Given the description of an element on the screen output the (x, y) to click on. 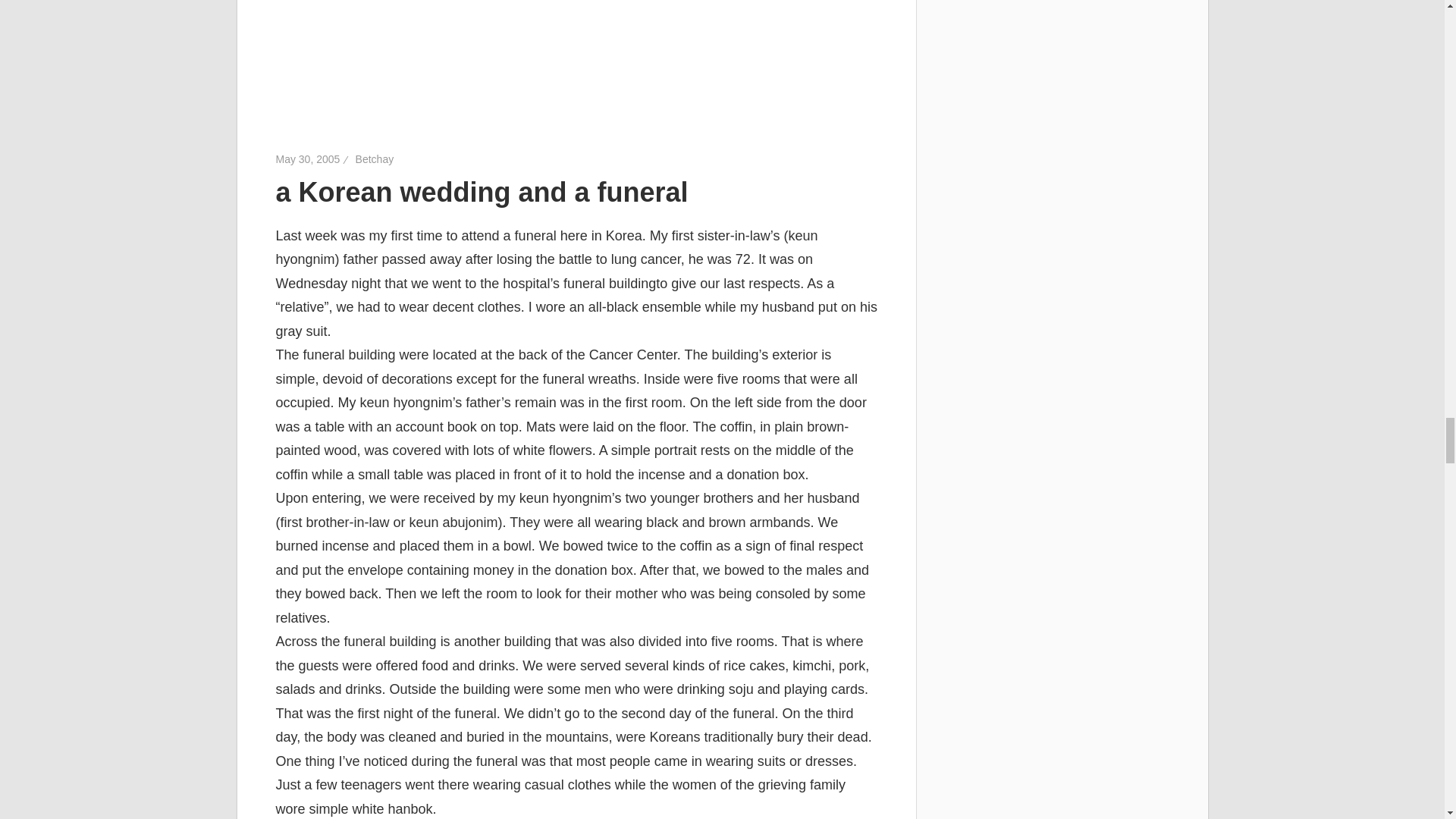
7:57 pm (308, 159)
View all posts by Betchay (374, 159)
Comment Form (576, 52)
